Given the description of an element on the screen output the (x, y) to click on. 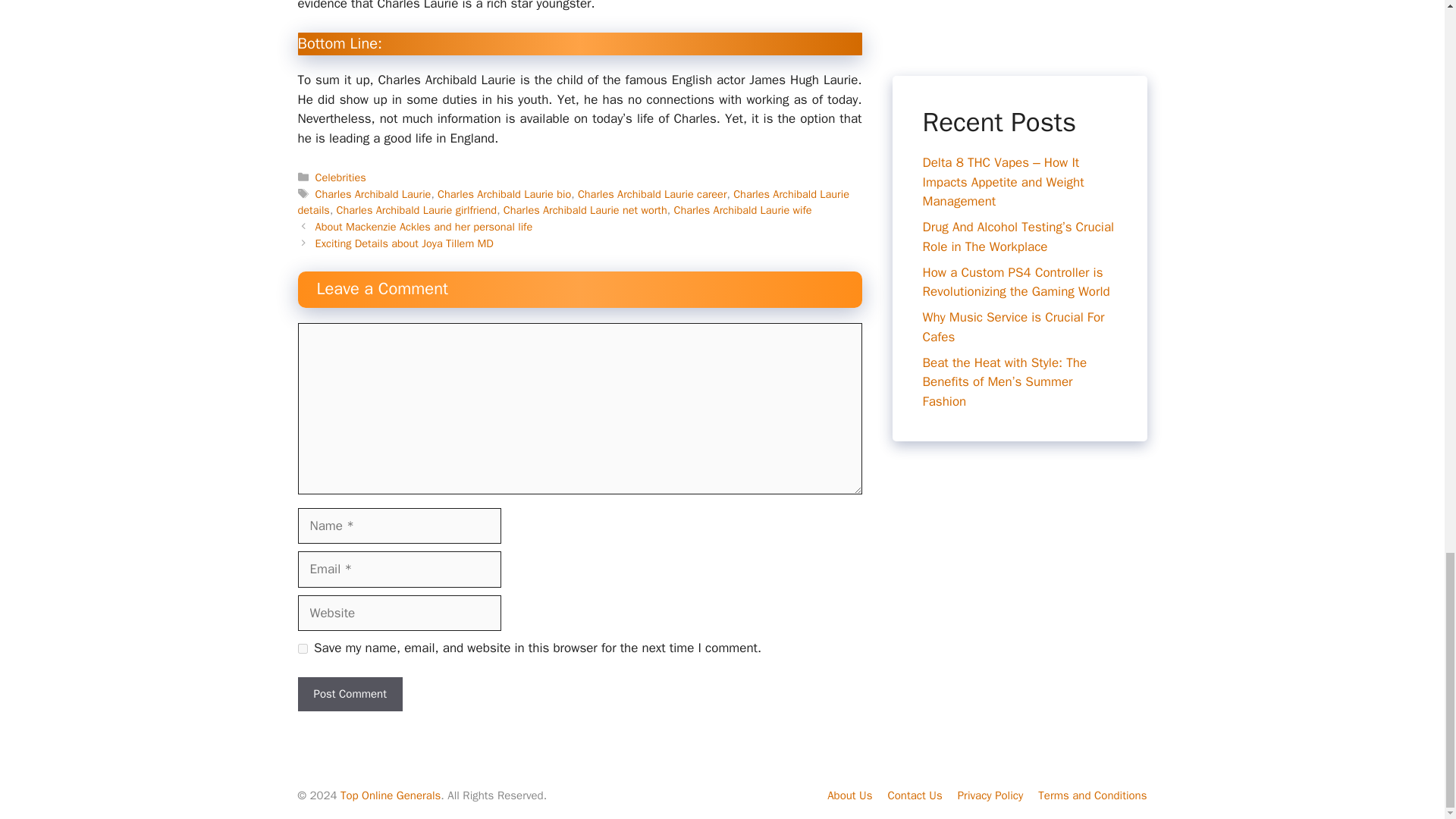
Privacy Policy (990, 795)
Post Comment (349, 694)
Terms and Conditions (1092, 795)
Charles Archibald Laurie net worth (584, 210)
Post Comment (349, 694)
Charles Archibald Laurie girlfriend (416, 210)
Exciting Details about Joya Tillem MD (404, 243)
About Us (849, 795)
Charles Archibald Laurie details (572, 202)
yes (302, 648)
